Given the description of an element on the screen output the (x, y) to click on. 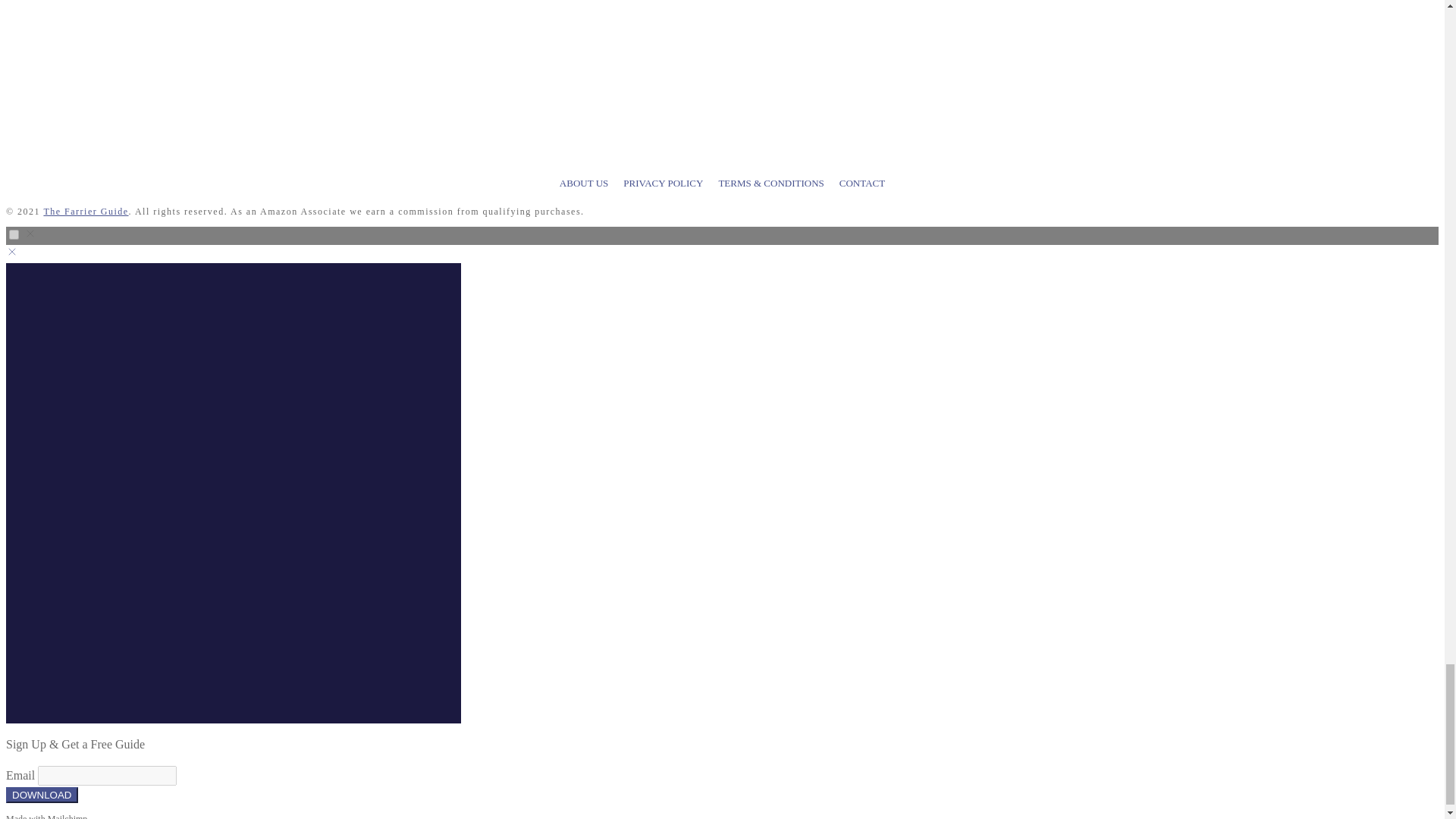
on (13, 234)
